Given the description of an element on the screen output the (x, y) to click on. 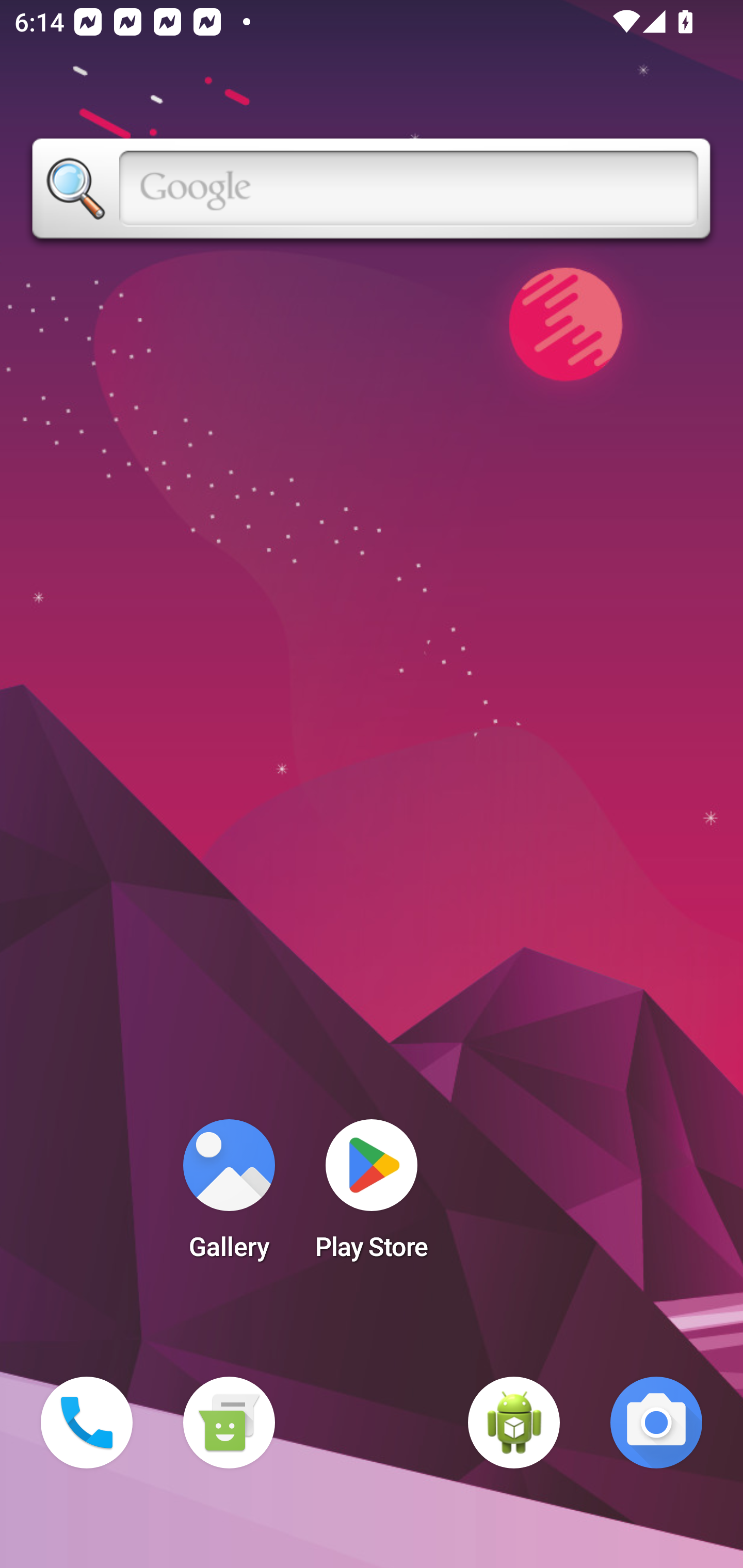
Gallery (228, 1195)
Play Store (371, 1195)
Phone (86, 1422)
Messaging (228, 1422)
WebView Browser Tester (513, 1422)
Camera (656, 1422)
